Given the description of an element on the screen output the (x, y) to click on. 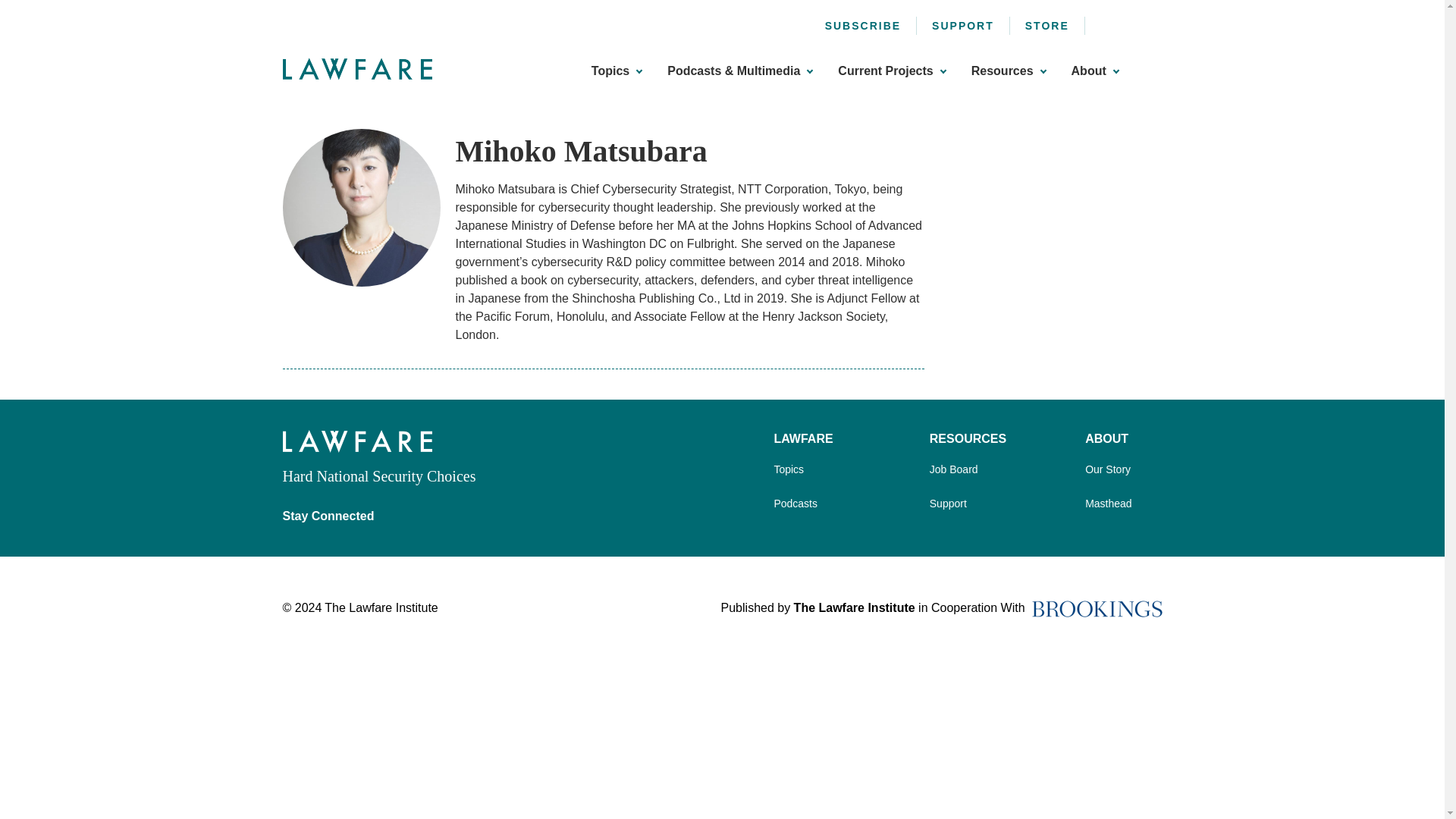
LinkedIn (1155, 22)
SUBSCRIBE (863, 25)
Topics (616, 70)
STORE (1046, 25)
Current Projects (891, 70)
Facebook (1107, 22)
Twitter (1132, 22)
SUPPORT (962, 25)
